Given the description of an element on the screen output the (x, y) to click on. 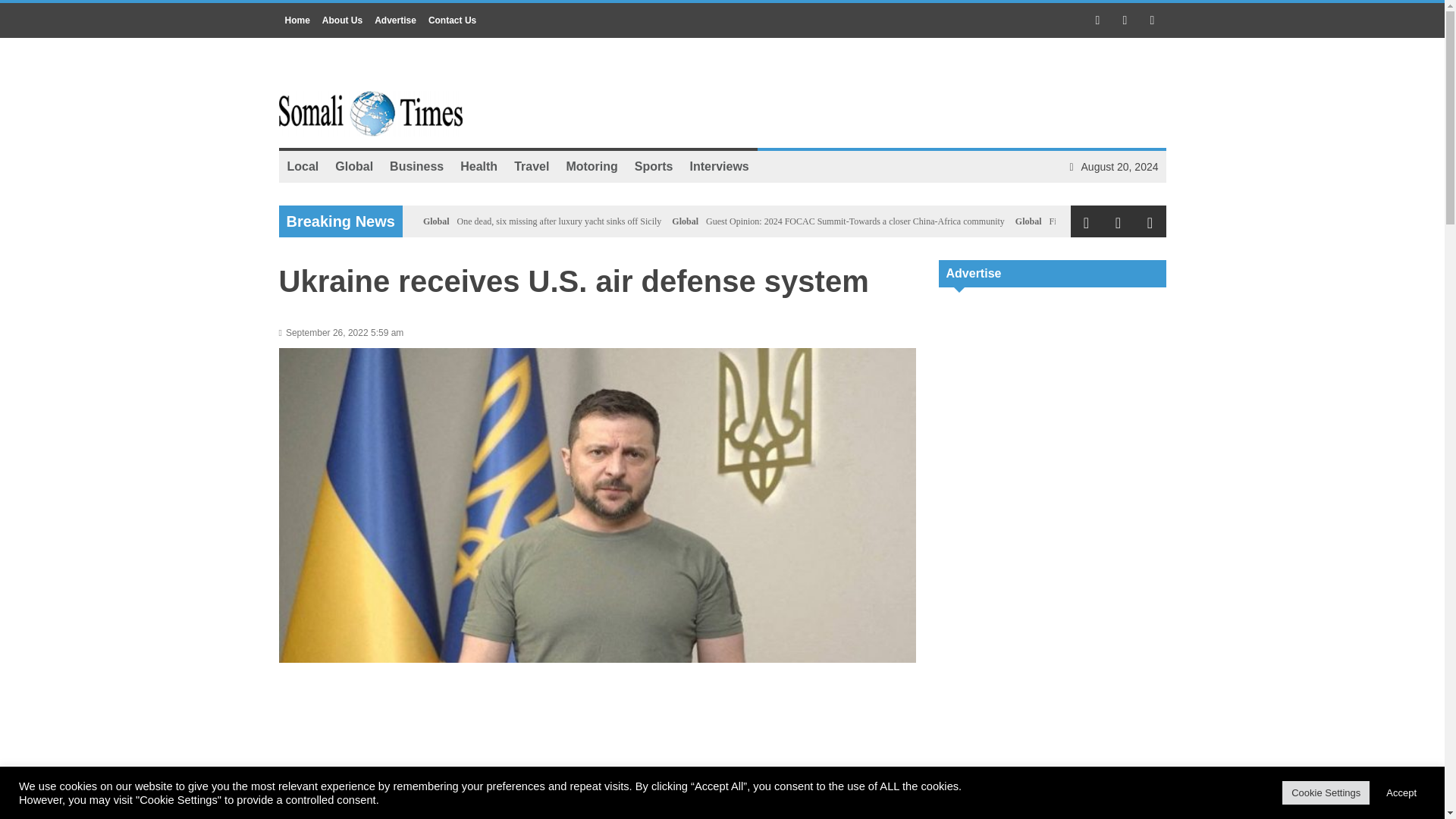
Health (478, 166)
Global (684, 221)
Sports (653, 166)
Advertise (395, 20)
Interviews (719, 166)
Local (303, 166)
Advertisement (1052, 397)
Motoring (591, 166)
Advertisement (1052, 787)
